Given the description of an element on the screen output the (x, y) to click on. 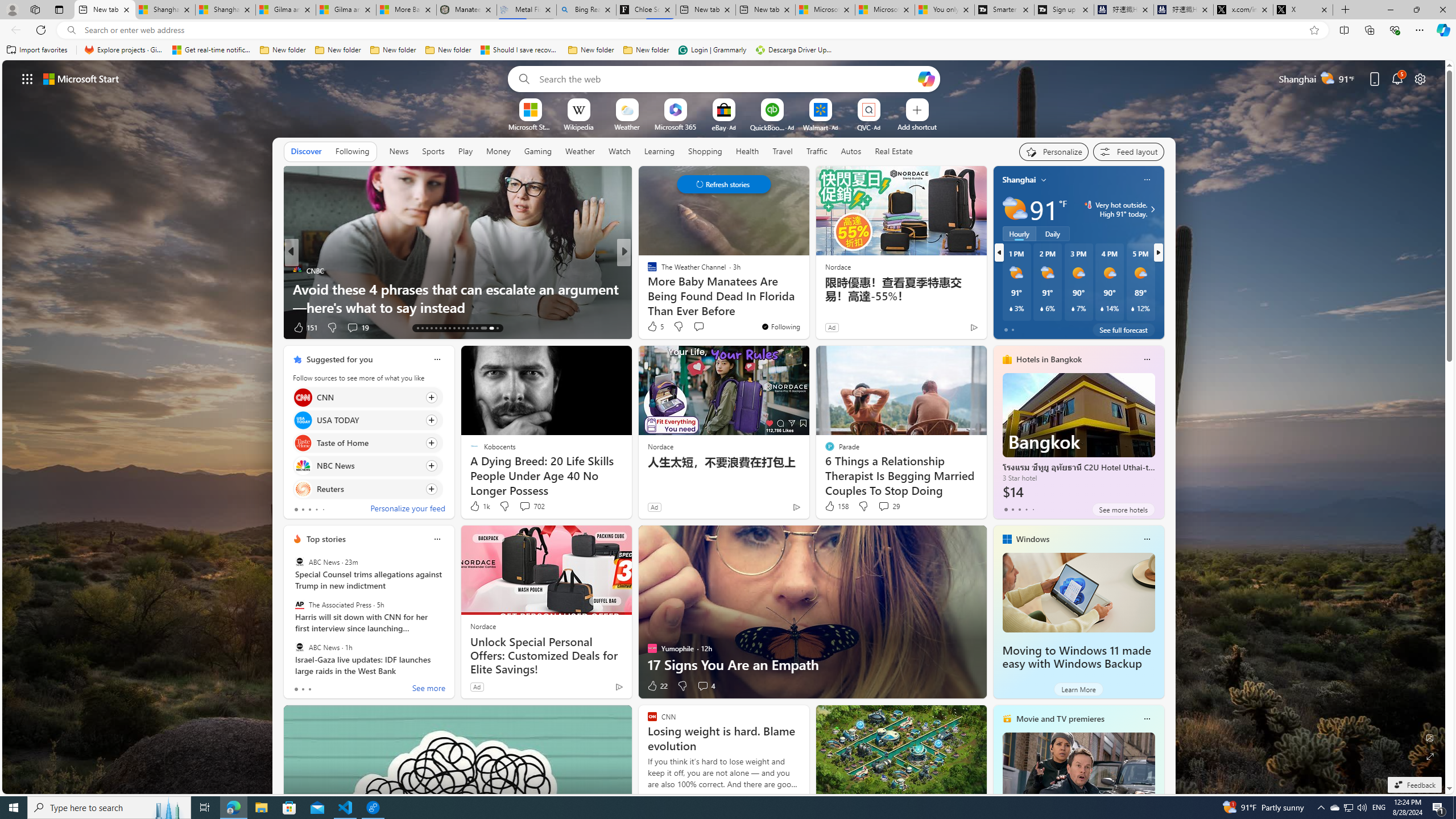
AutomationID: tab-40 (481, 328)
AutomationID: tab-20 (449, 328)
tab-1 (302, 689)
Chloe Sorvino (646, 9)
Partly sunny (1014, 208)
AutomationID: tab-21 (454, 328)
AutomationID: tab-24 (467, 328)
Daily (1052, 233)
tab-2 (309, 689)
Page settings (1420, 78)
Play (465, 151)
